Given the description of an element on the screen output the (x, y) to click on. 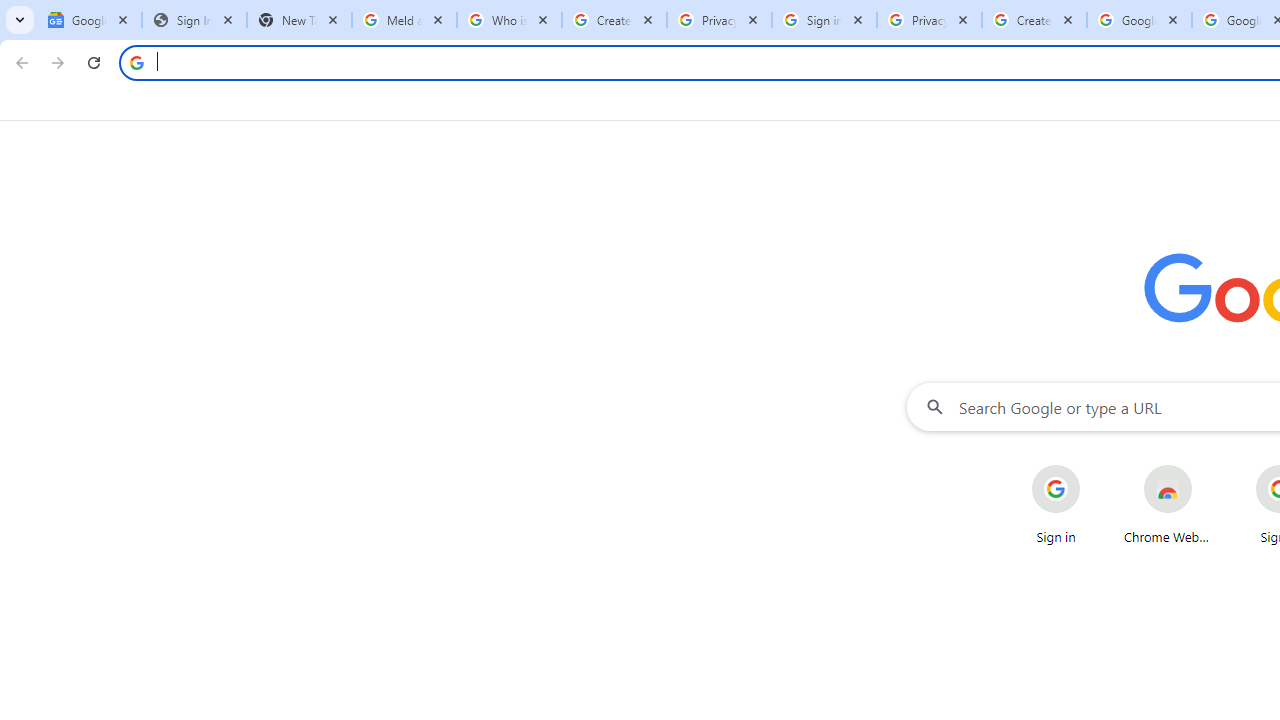
Who is my administrator? - Google Account Help (509, 20)
Sign In - USA TODAY (194, 20)
Chrome Web Store (1167, 504)
Create your Google Account (613, 20)
Create your Google Account (1033, 20)
